Given the description of an element on the screen output the (x, y) to click on. 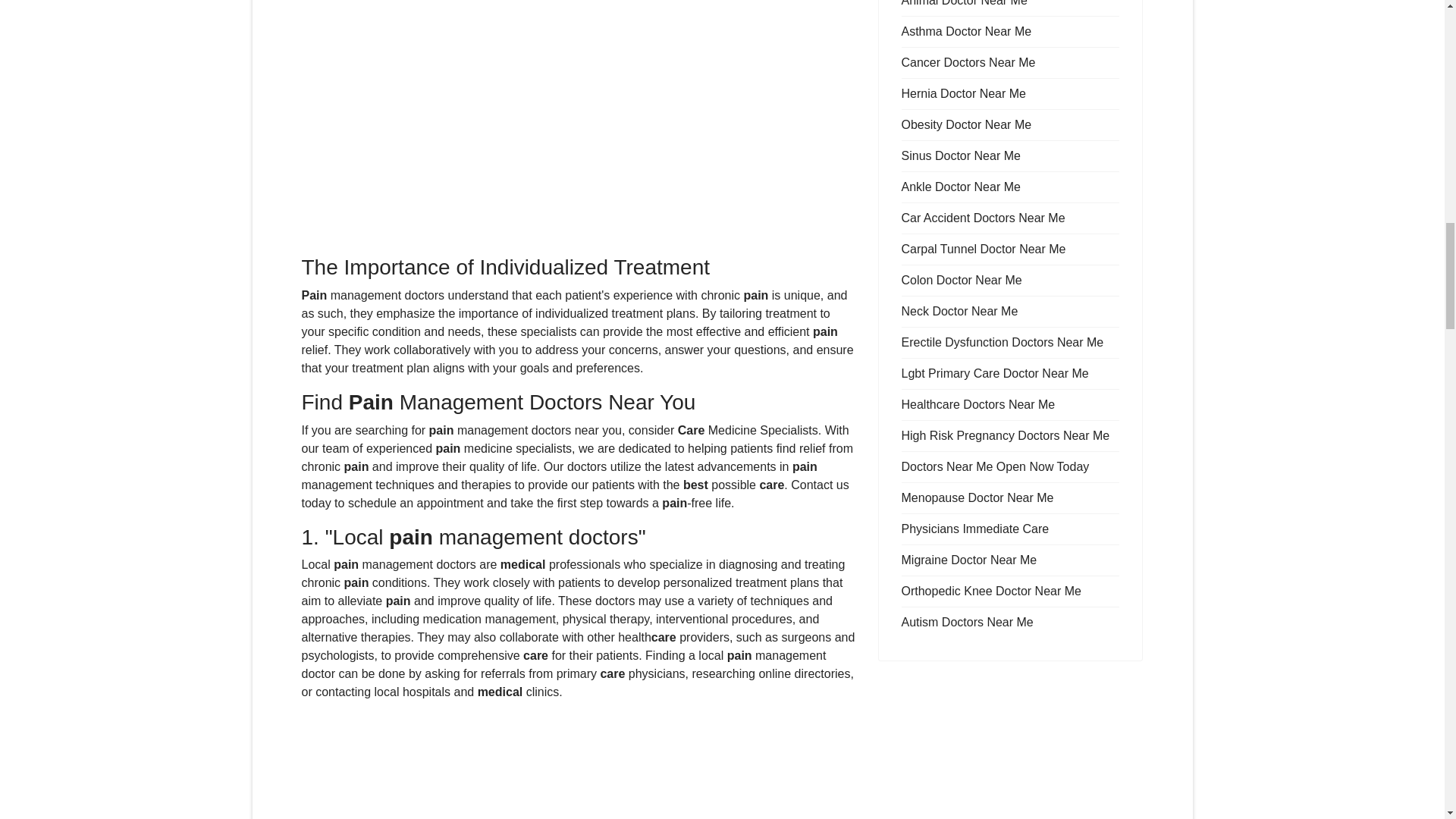
family doctors near me - urgent care medical assistance (578, 766)
